Given the description of an element on the screen output the (x, y) to click on. 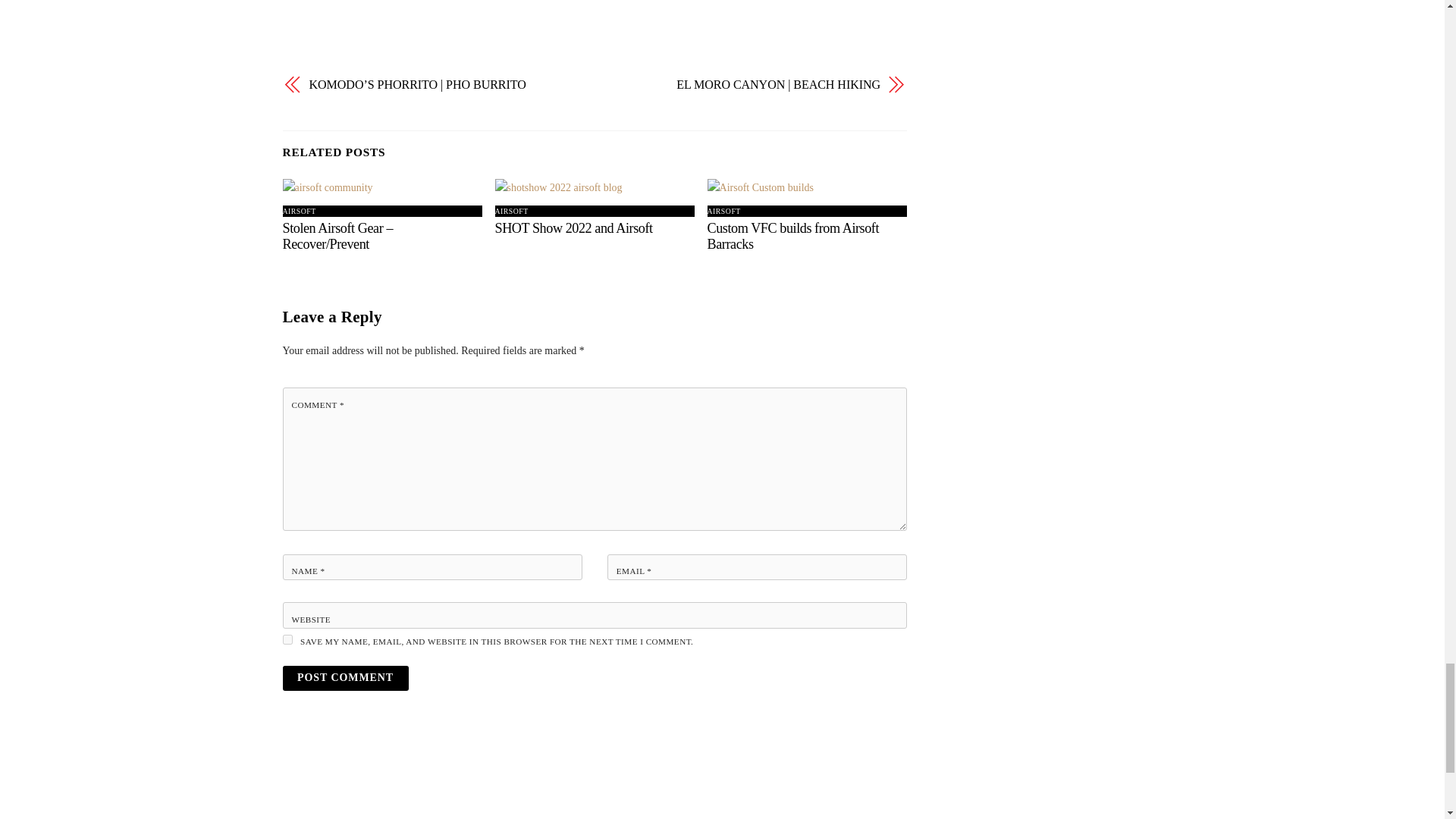
yes (287, 639)
Custom VFC builds from Airsoft Barracks (793, 235)
SHOT Show 2022 and Airsoft (573, 227)
Post Comment (344, 678)
